Given the description of an element on the screen output the (x, y) to click on. 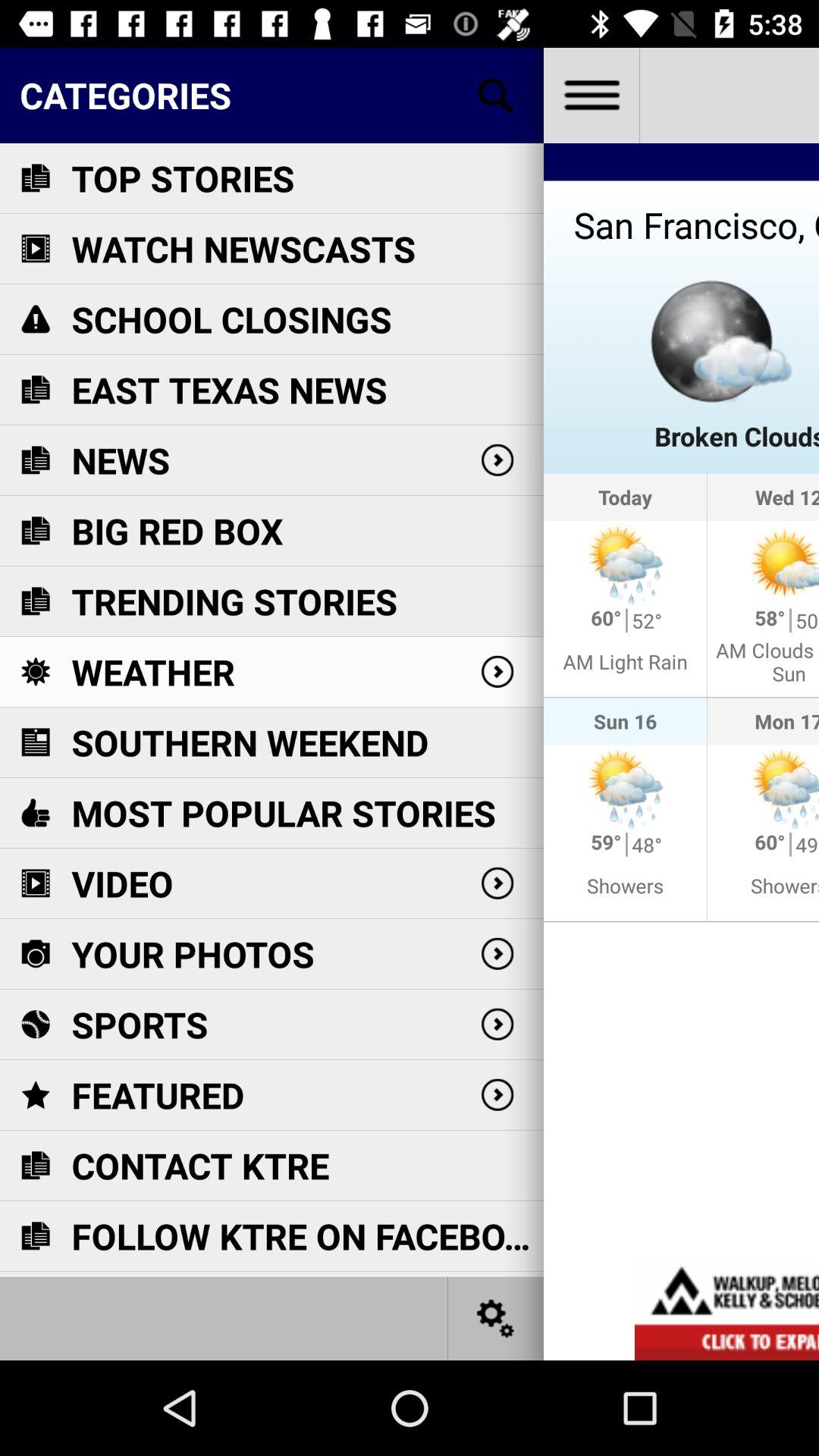
show settings (495, 1318)
